Given the description of an element on the screen output the (x, y) to click on. 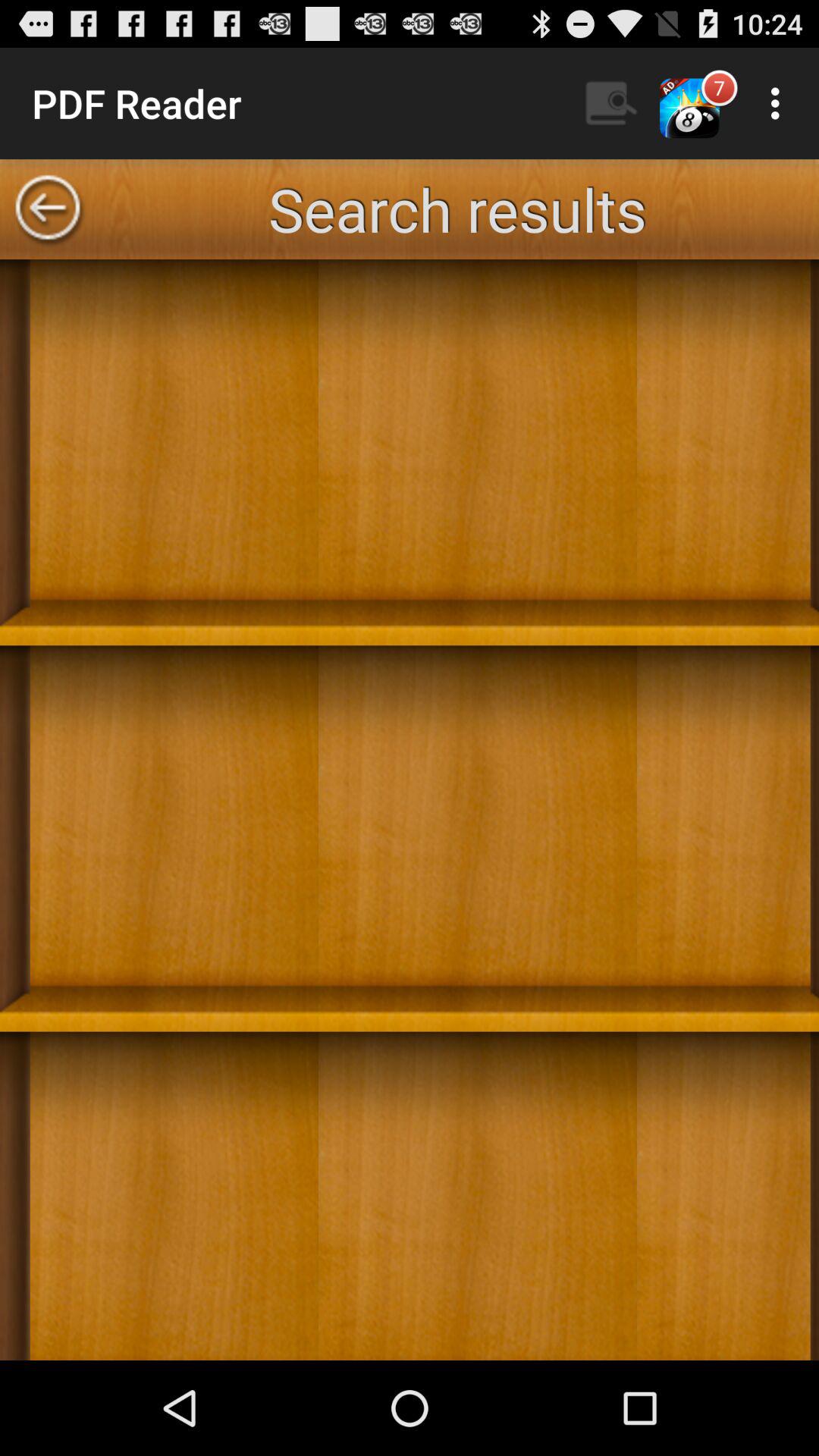
book shelf (409, 809)
